Given the description of an element on the screen output the (x, y) to click on. 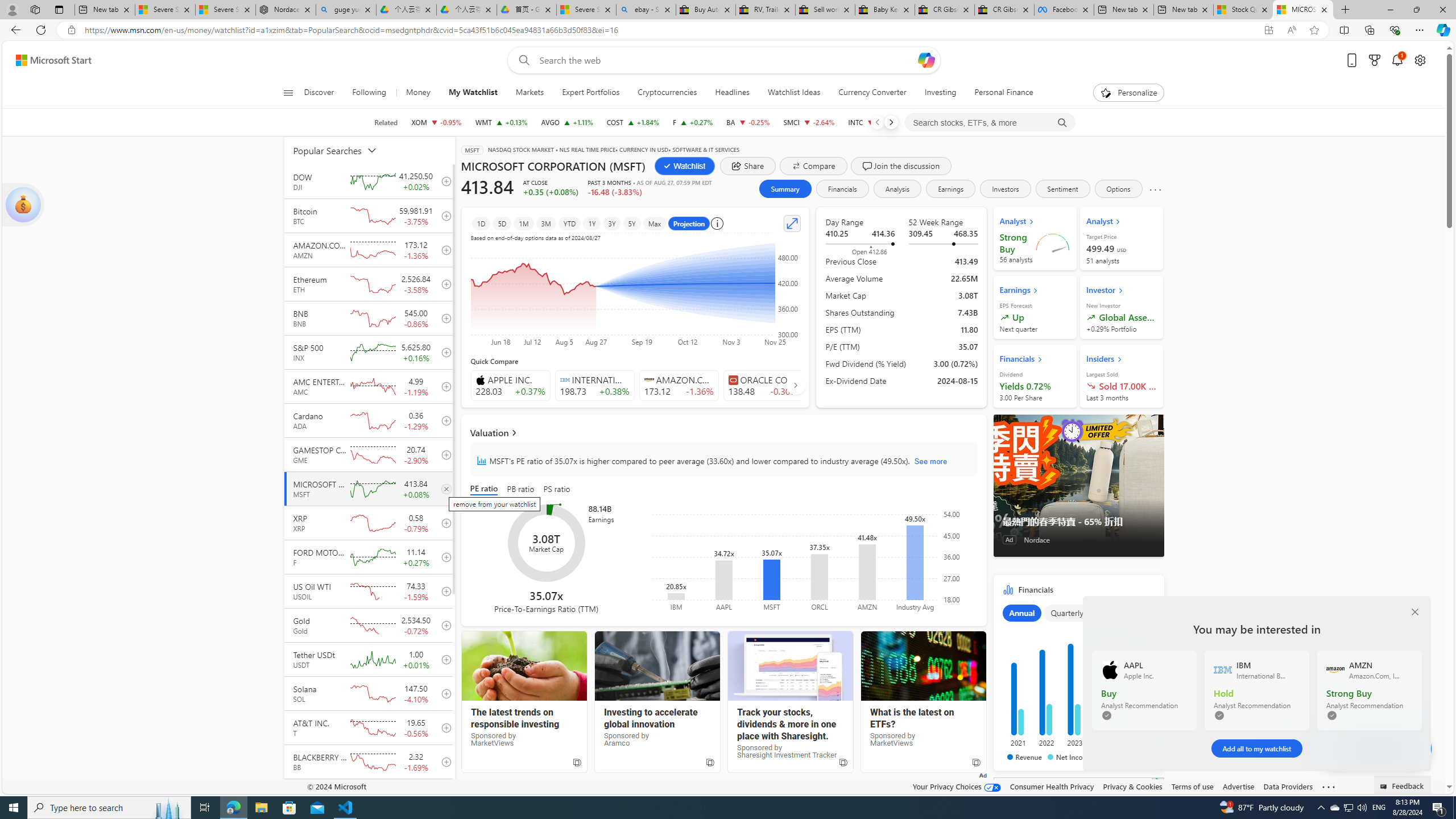
My Watchlist (472, 92)
1D (480, 223)
Skip to footer (46, 59)
Projection (689, 223)
Watchlist Ideas (793, 92)
Data Providers (1288, 785)
